Given the description of an element on the screen output the (x, y) to click on. 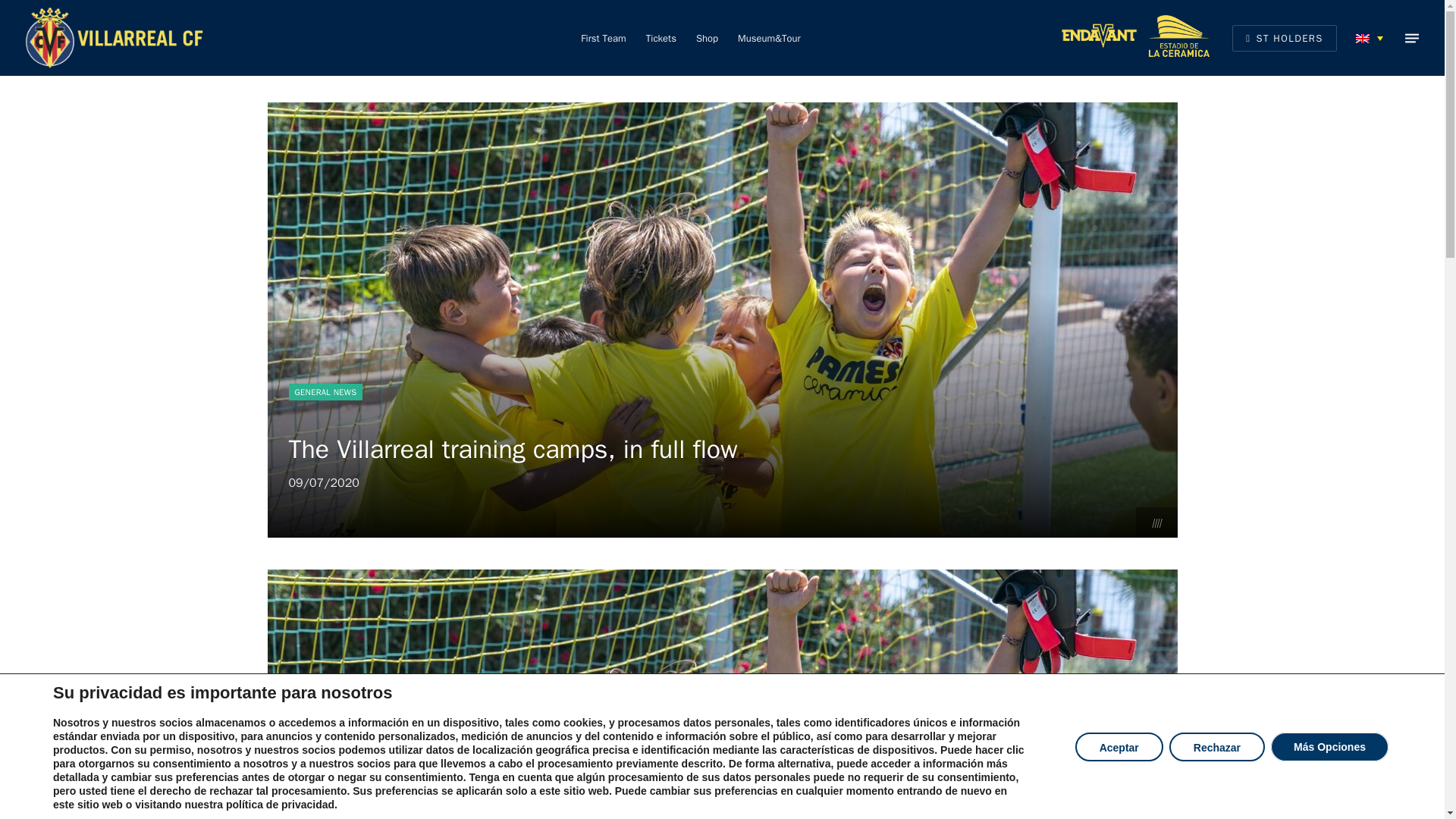
Web Oficial del Villarreal CF (114, 38)
